Given the description of an element on the screen output the (x, y) to click on. 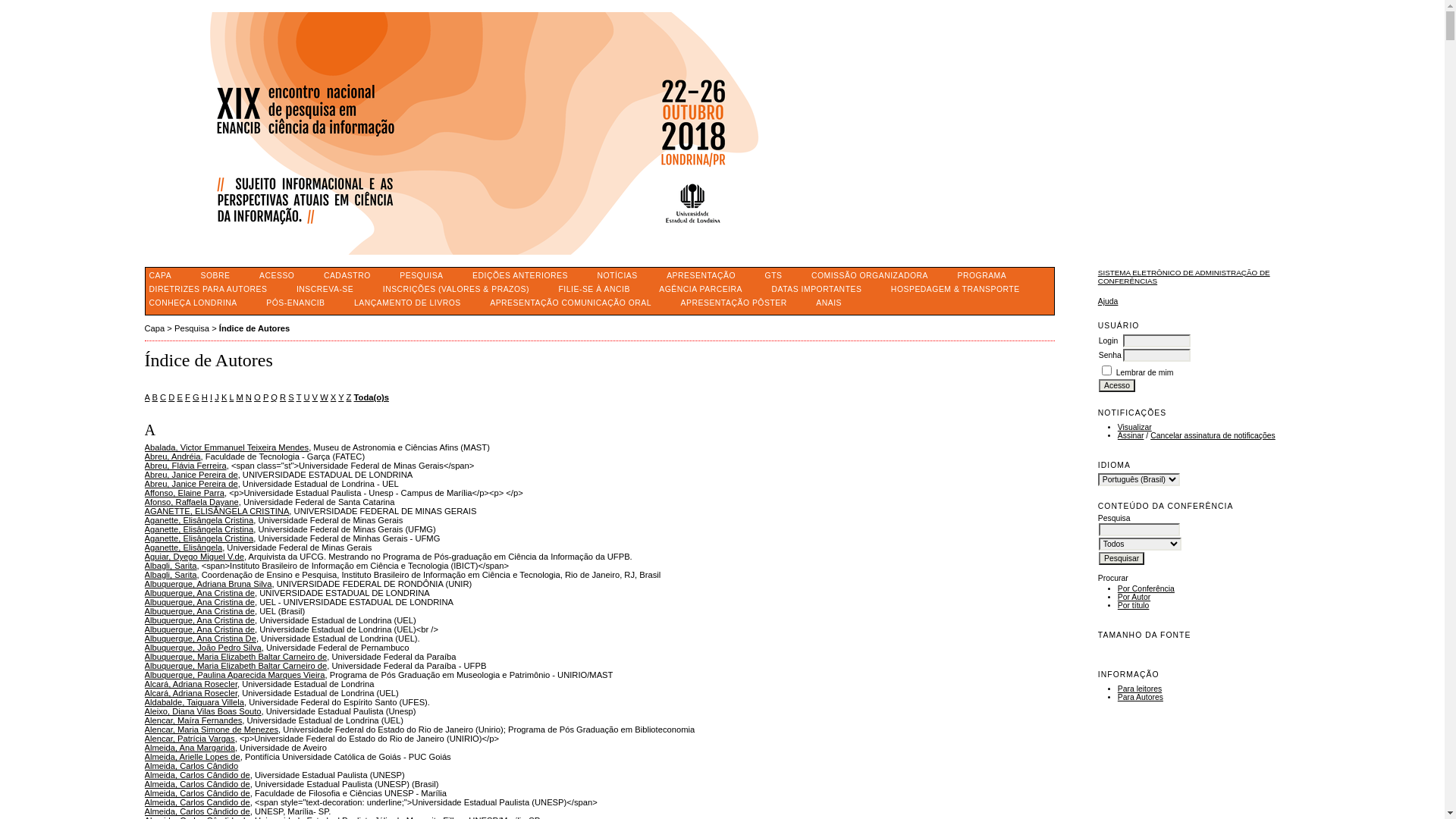
R Element type: text (282, 396)
Para leitores Element type: text (1139, 688)
Albuquerque, Ana Cristina de Element type: text (199, 619)
Albuquerque, Ana Cristina de Element type: text (199, 628)
Almeida, Arielle Lopes de Element type: text (191, 756)
Pesquisar Element type: text (1121, 558)
Almeida, Ana Margarida Element type: text (189, 747)
C Element type: text (163, 396)
H Element type: text (204, 396)
Affonso, Elaine Parra Element type: text (184, 492)
V Element type: text (314, 396)
Pesquisa Element type: text (191, 327)
B Element type: text (153, 396)
E Element type: text (179, 396)
ANAIS Element type: text (828, 302)
Visualizar Element type: text (1134, 427)
PESQUISA Element type: text (420, 275)
X Element type: text (332, 396)
Capa Element type: text (154, 327)
Albuquerque, Ana Cristina de Element type: text (199, 592)
T Element type: text (298, 396)
A Element type: text (146, 396)
ACESSO Element type: text (276, 275)
I Element type: text (211, 396)
Por Autor Element type: text (1133, 597)
J Element type: text (216, 396)
Alencar, Maria Simone de Menezes Element type: text (211, 729)
Albuquerque, Adriana Bruna Silva Element type: text (207, 583)
Y Element type: text (340, 396)
Albuquerque, Maria Elizabeth Baltar Carneiro de Element type: text (235, 656)
S Element type: text (290, 396)
INSCREVA-SE Element type: text (324, 289)
Albuquerque, Maria Elizabeth Baltar Carneiro de Element type: text (235, 665)
Abreu, Janice Pereira de Element type: text (190, 483)
Albuquerque, Paulina Aparecida Marques Vieira Element type: text (234, 674)
CADASTRO Element type: text (347, 275)
Abalada, Victor Emmanuel Teixeira Mendes Element type: text (226, 446)
F Element type: text (187, 396)
Albagli, Sarita Element type: text (170, 565)
Assinar Element type: text (1130, 435)
Para Autores Element type: text (1140, 697)
Acesso Element type: text (1116, 385)
Z Element type: text (348, 396)
Q Element type: text (273, 396)
Almeida, Carlos Candido de Element type: text (196, 801)
P Element type: text (265, 396)
U Element type: text (306, 396)
Albuquerque, Ana Cristina de Element type: text (199, 601)
PROGRAMA Element type: text (981, 275)
Aldabalde, Taiguara Villela Element type: text (193, 701)
M Element type: text (238, 396)
G Element type: text (195, 396)
D Element type: text (171, 396)
DIRETRIZES PARA AUTORES Element type: text (208, 289)
Aguiar, Dyego Miguel V.de Element type: text (193, 556)
N Element type: text (248, 396)
DATAS IMPORTANTES Element type: text (816, 289)
O Element type: text (257, 396)
L Element type: text (231, 396)
SOBRE Element type: text (215, 275)
Ajuda Element type: text (1108, 301)
Afonso, Raffaela Dayane Element type: text (191, 501)
Toda(o)s Element type: text (371, 396)
Albagli, Sarita Element type: text (170, 574)
Albuquerque, Ana Cristina de Element type: text (199, 610)
CAPA Element type: text (160, 275)
Aleixo, Diana Vilas Boas Souto Element type: text (202, 710)
W Element type: text (324, 396)
HOSPEDAGEM & TRANSPORTE Element type: text (955, 289)
K Element type: text (223, 396)
Abreu, Janice Pereira de Element type: text (190, 474)
GTS Element type: text (773, 275)
Albuquerque, Ana Cristina De Element type: text (199, 638)
